Given the description of an element on the screen output the (x, y) to click on. 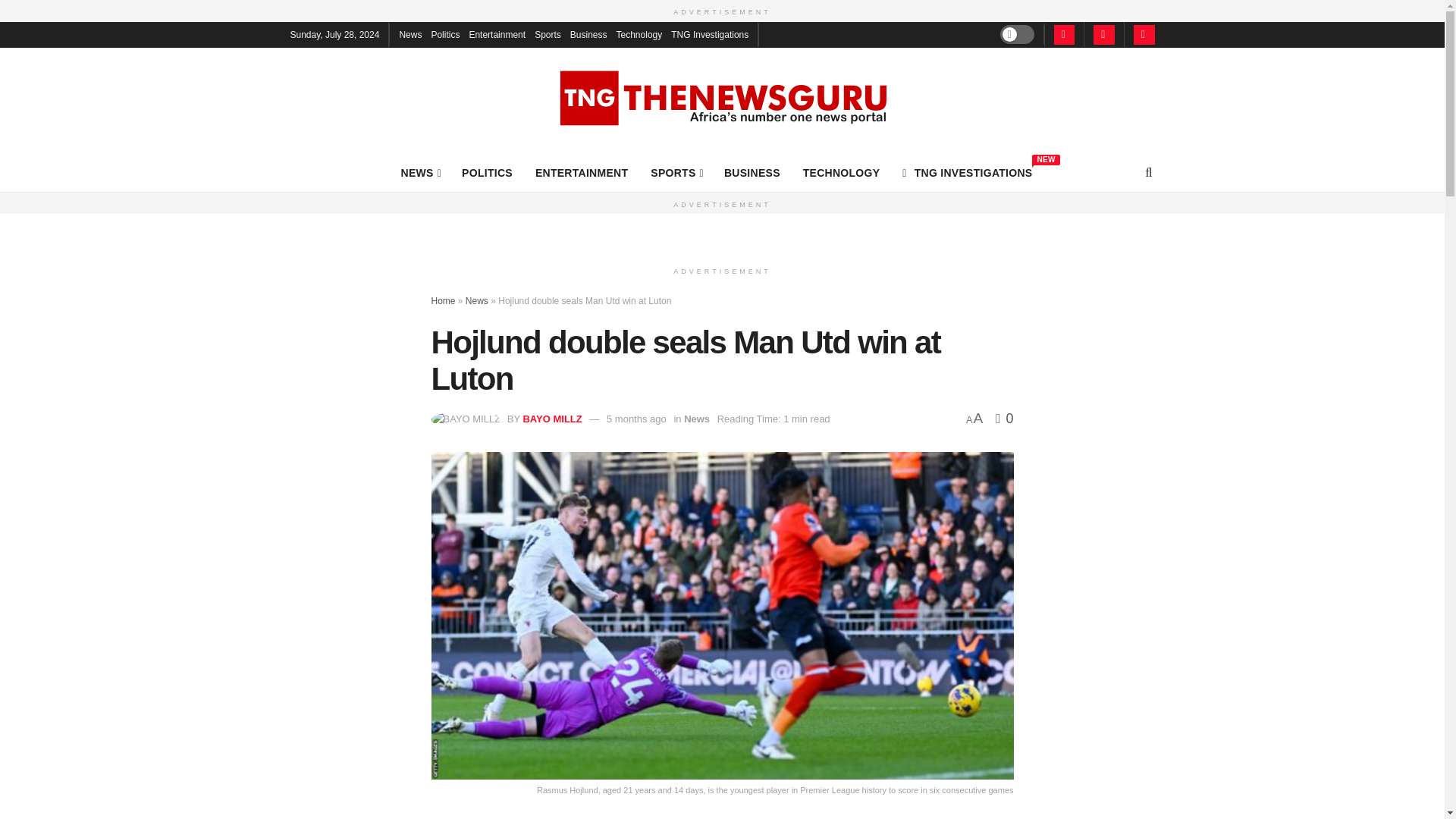
Technology (638, 33)
Politics (445, 33)
TNG Investigations (709, 33)
POLITICS (967, 172)
Entertainment (486, 172)
News (496, 33)
BUSINESS (410, 33)
Sports (751, 172)
NEWS (547, 33)
TECHNOLOGY (420, 172)
SPORTS (841, 172)
Business (675, 172)
ENTERTAINMENT (588, 33)
